Given the description of an element on the screen output the (x, y) to click on. 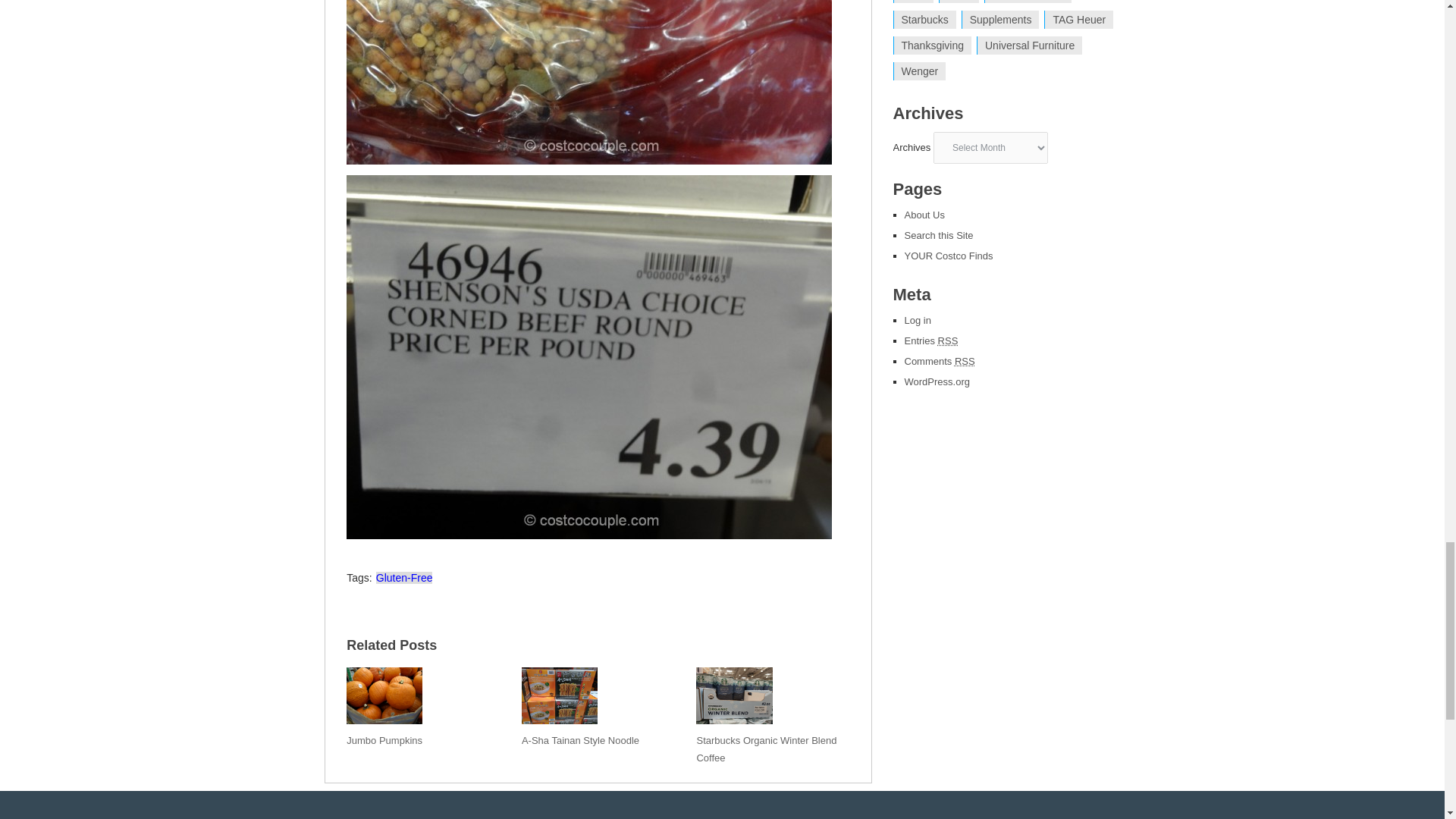
Gluten-Free (403, 577)
Shenson Corned Beef Round Costco (588, 82)
